Given the description of an element on the screen output the (x, y) to click on. 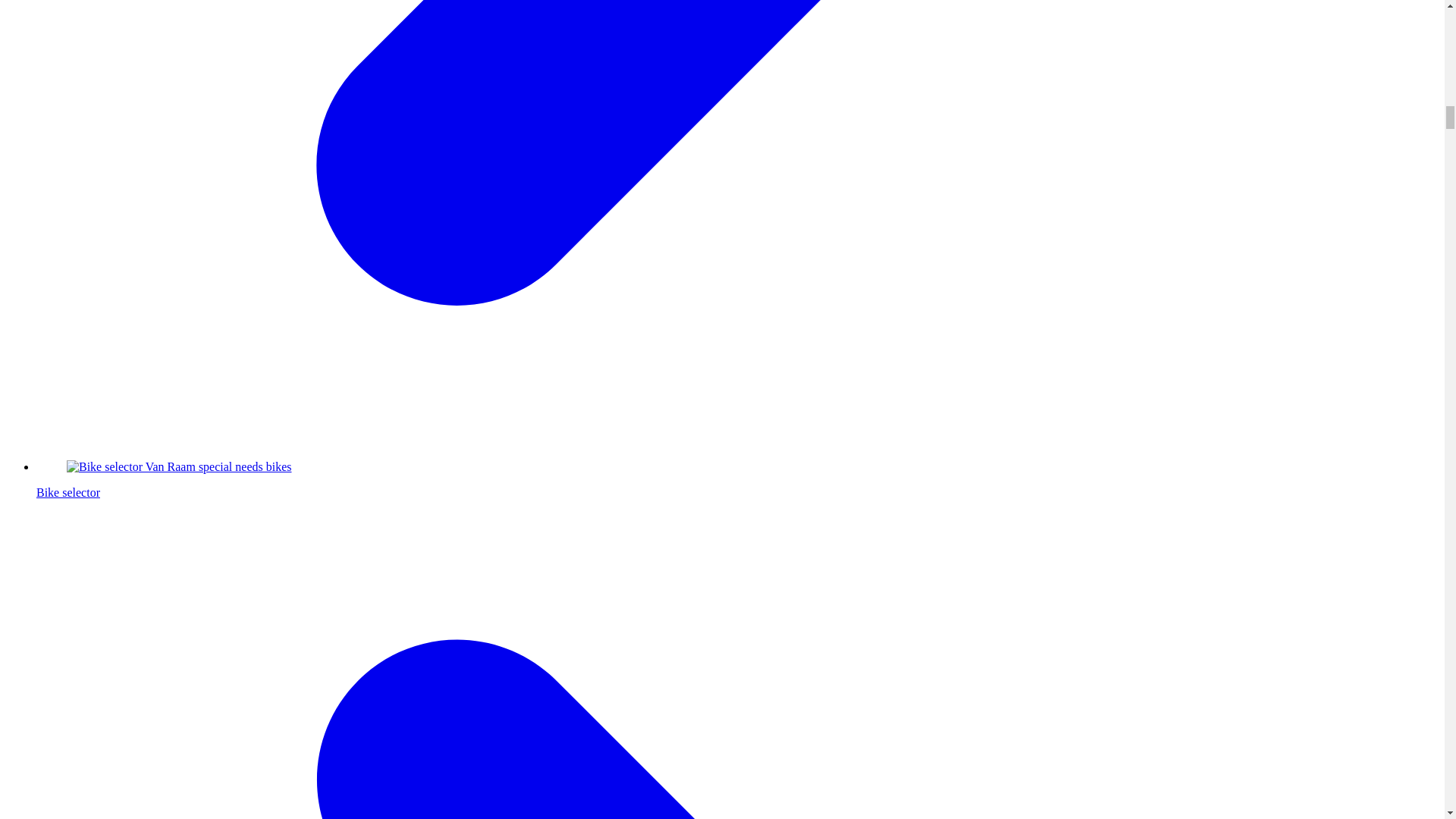
Bike selector Van Raam special needs bikes (179, 467)
